Given the description of an element on the screen output the (x, y) to click on. 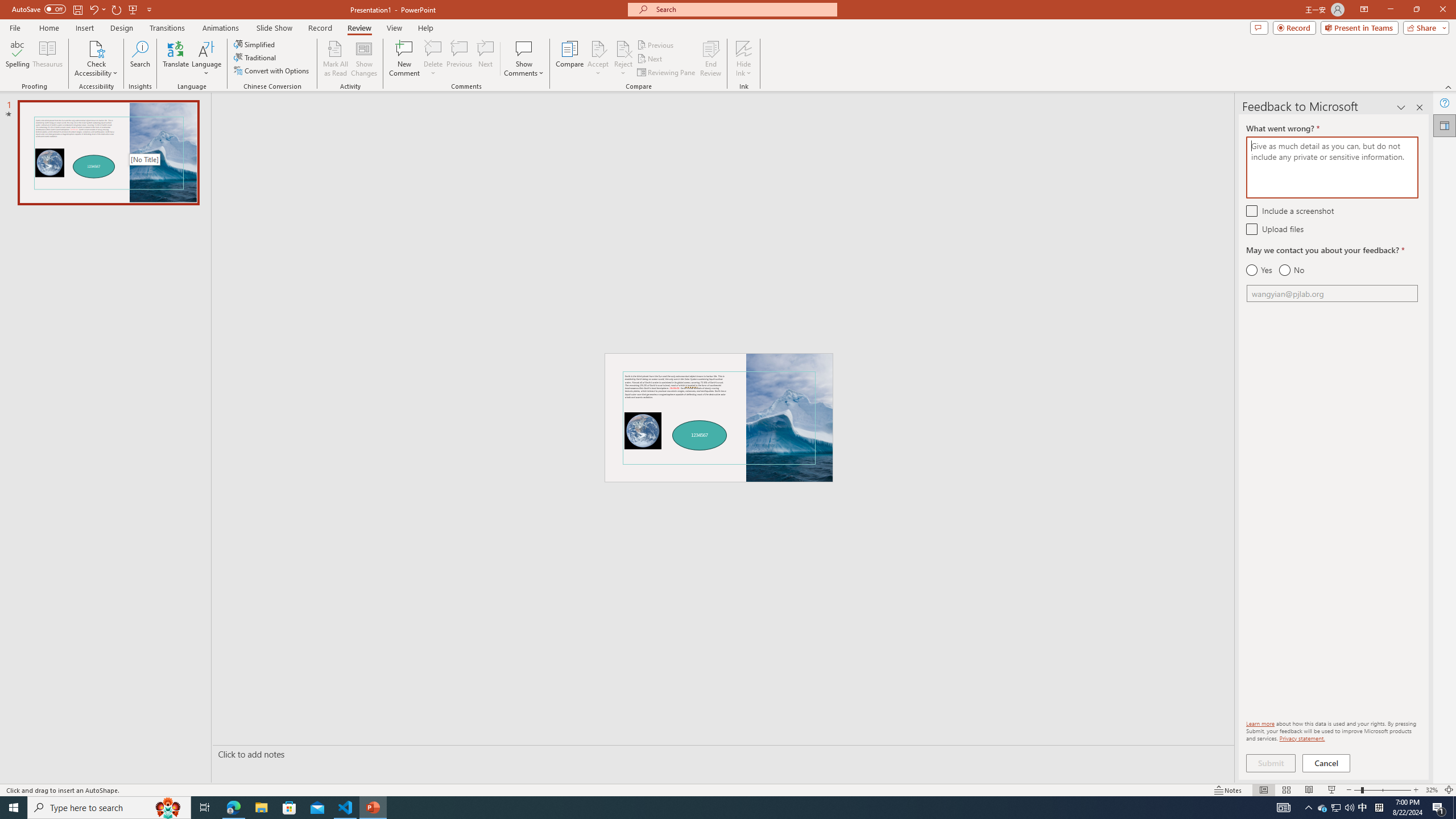
Traditional (255, 56)
Upload files (1251, 228)
Simplified (254, 44)
